Given the description of an element on the screen output the (x, y) to click on. 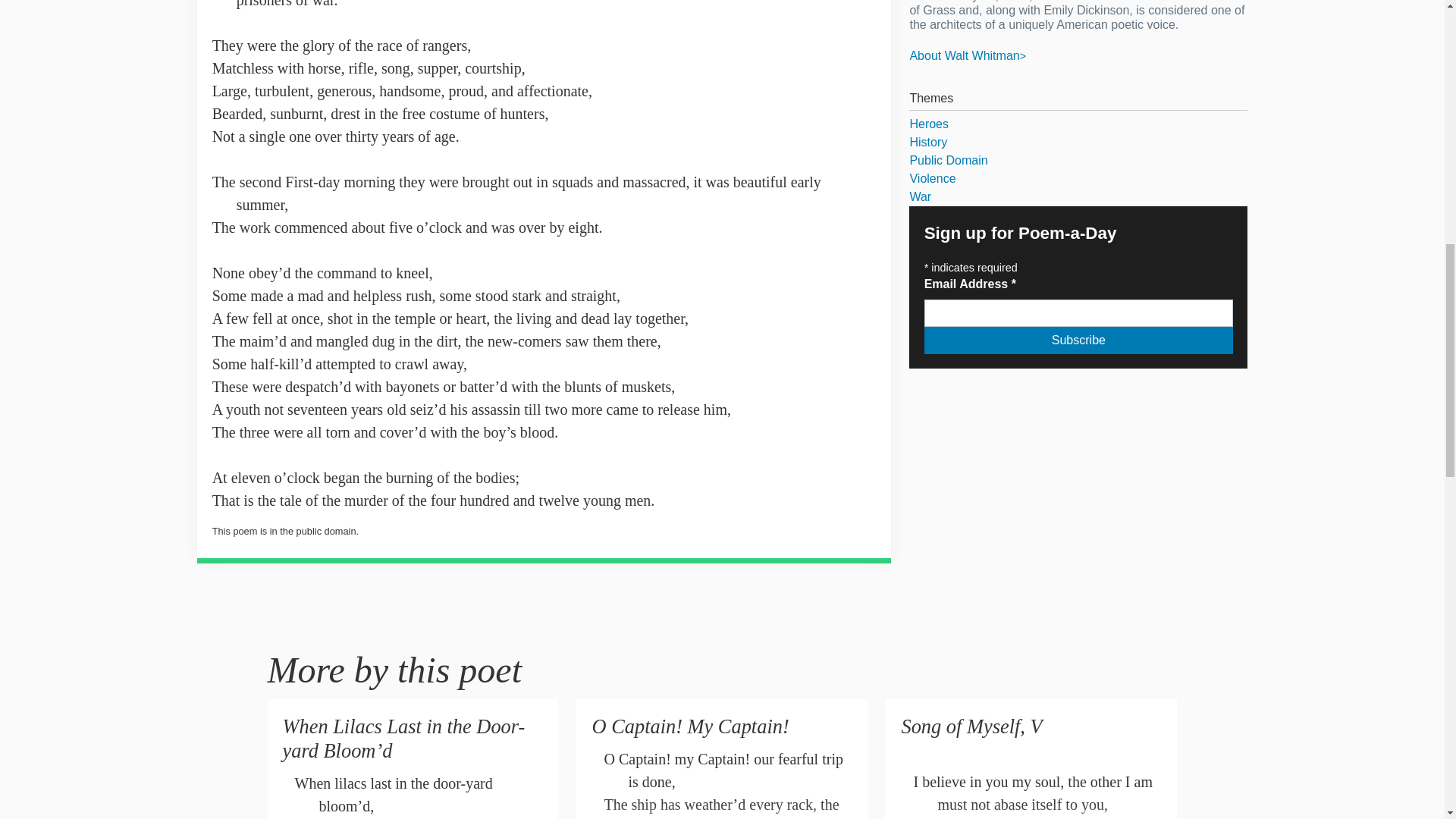
Public Domain (1077, 160)
Heroes (1077, 124)
Subscribe (1078, 339)
History (1077, 142)
Violence (1077, 178)
About Walt Whitman (967, 55)
